Given the description of an element on the screen output the (x, y) to click on. 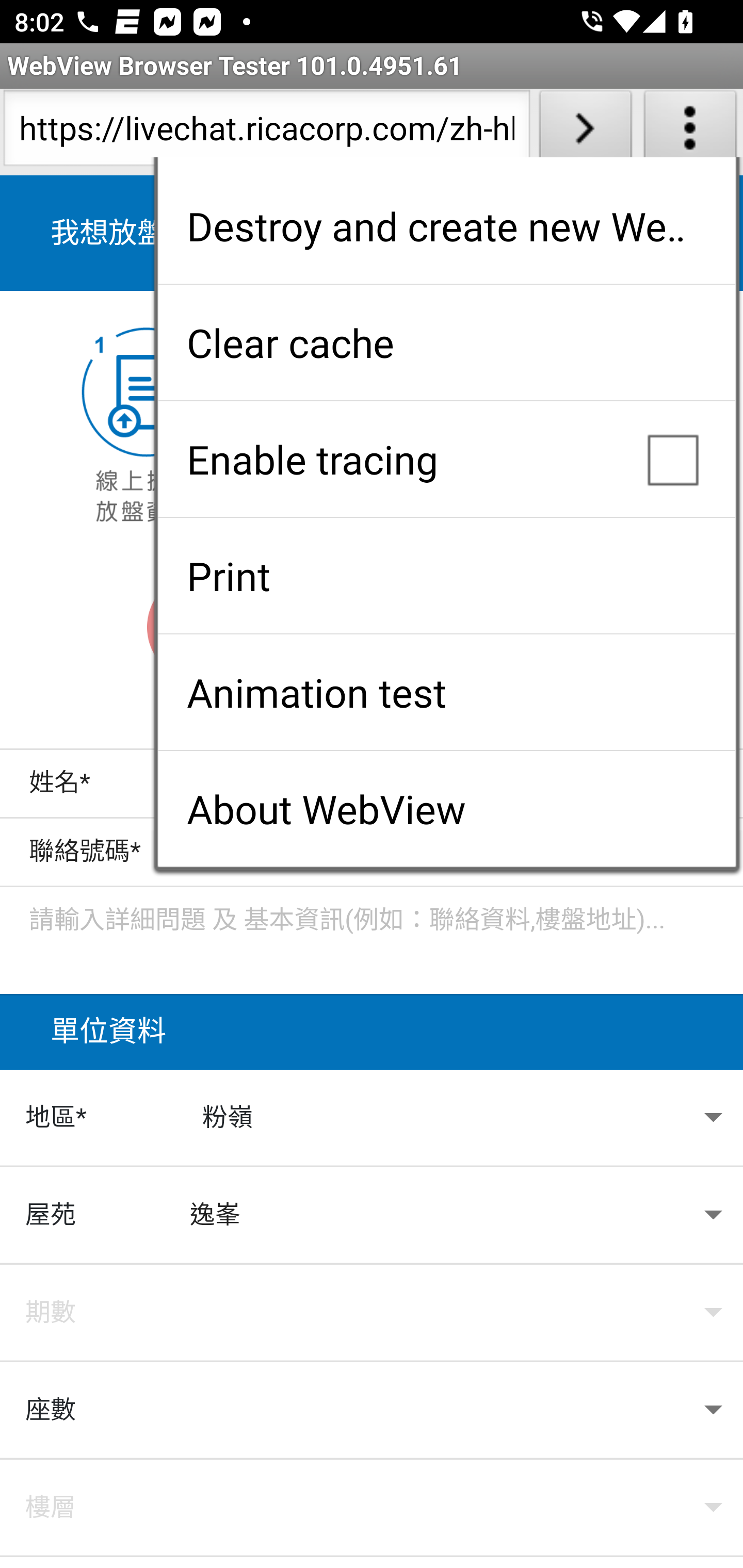
Destroy and create new WebView (446, 225)
Clear cache (446, 342)
Enable tracing (446, 459)
Print (446, 575)
Animation test (446, 692)
About WebView (446, 809)
